Given the description of an element on the screen output the (x, y) to click on. 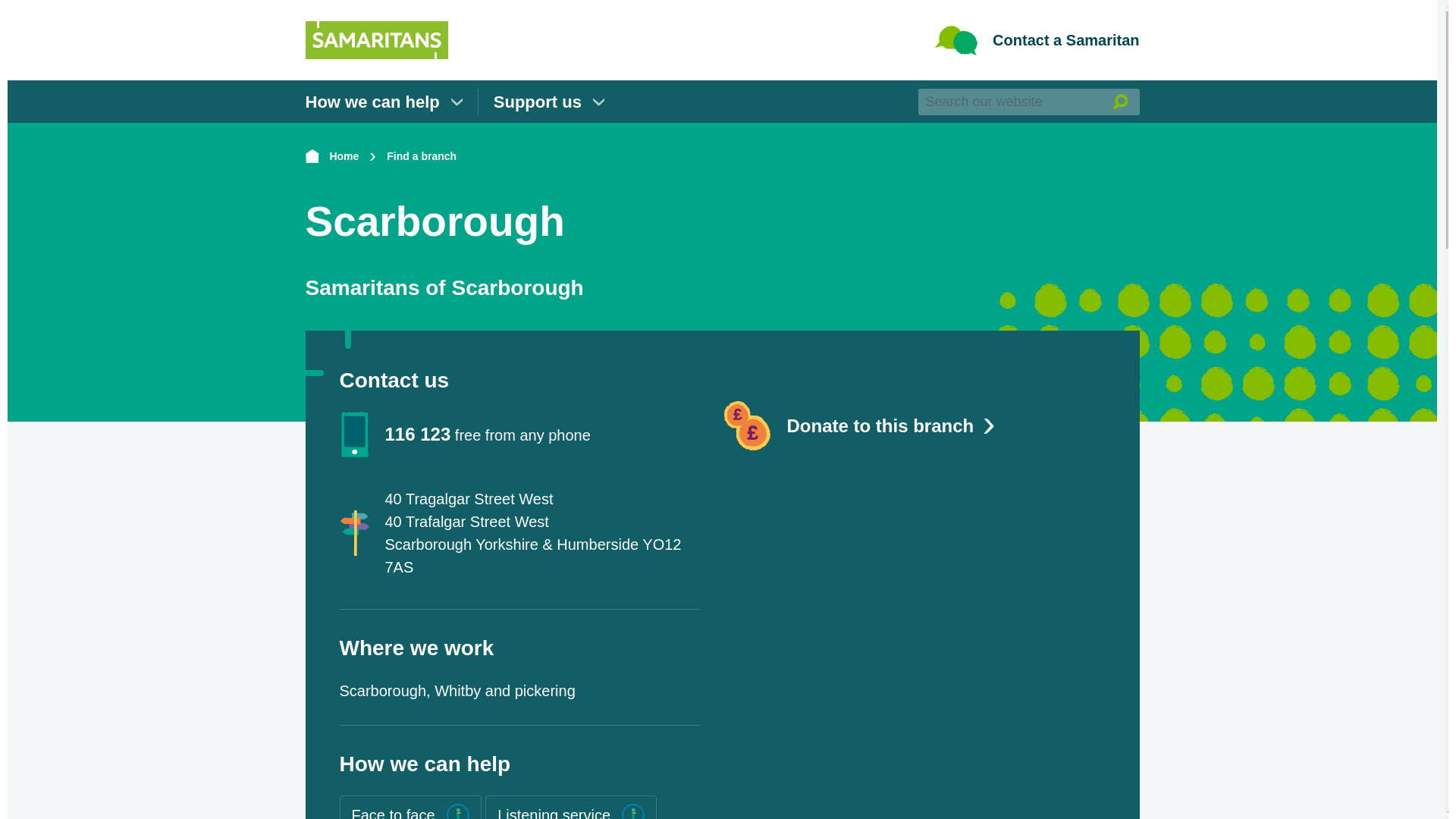
Search (1119, 100)
Find a branch (422, 156)
Support us (548, 100)
Find a branch (422, 156)
Home (331, 156)
Samaritans homepage (375, 26)
Home (331, 156)
Samaritans homepage (375, 40)
Donate to this branch (913, 425)
Contact a Samaritan (1036, 40)
